Given the description of an element on the screen output the (x, y) to click on. 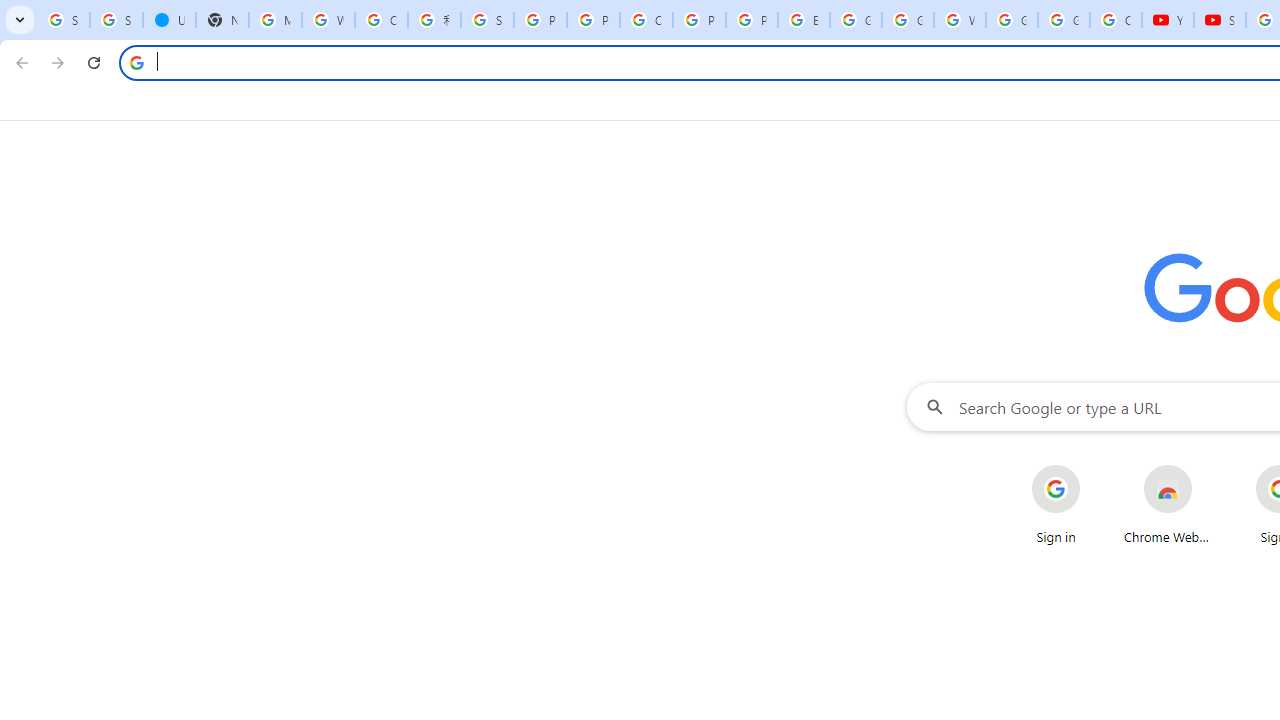
Edit and view right-to-left text - Google Docs Editors Help (803, 20)
